Given the description of an element on the screen output the (x, y) to click on. 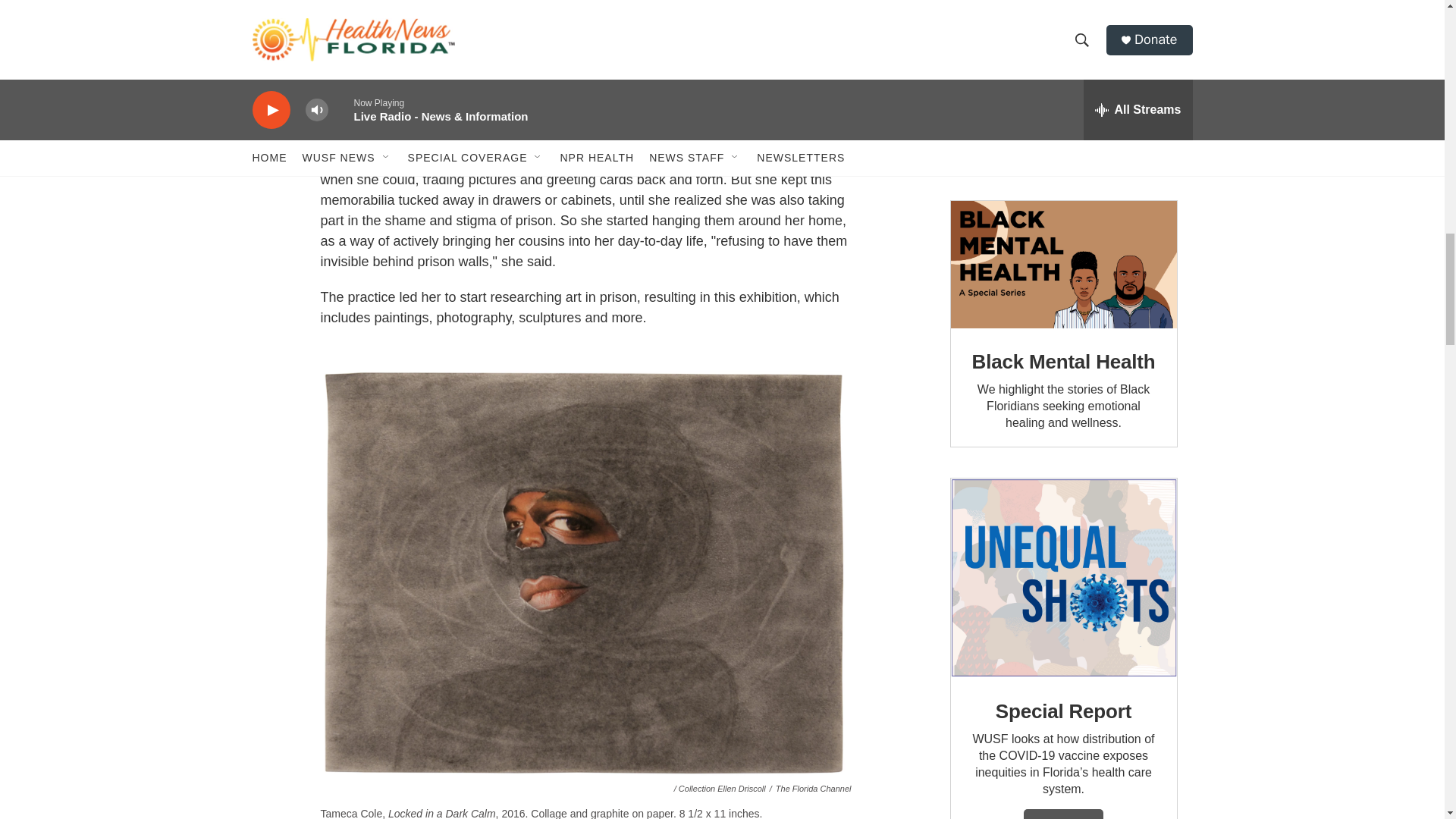
3rd party ad content (1062, 84)
